Given the description of an element on the screen output the (x, y) to click on. 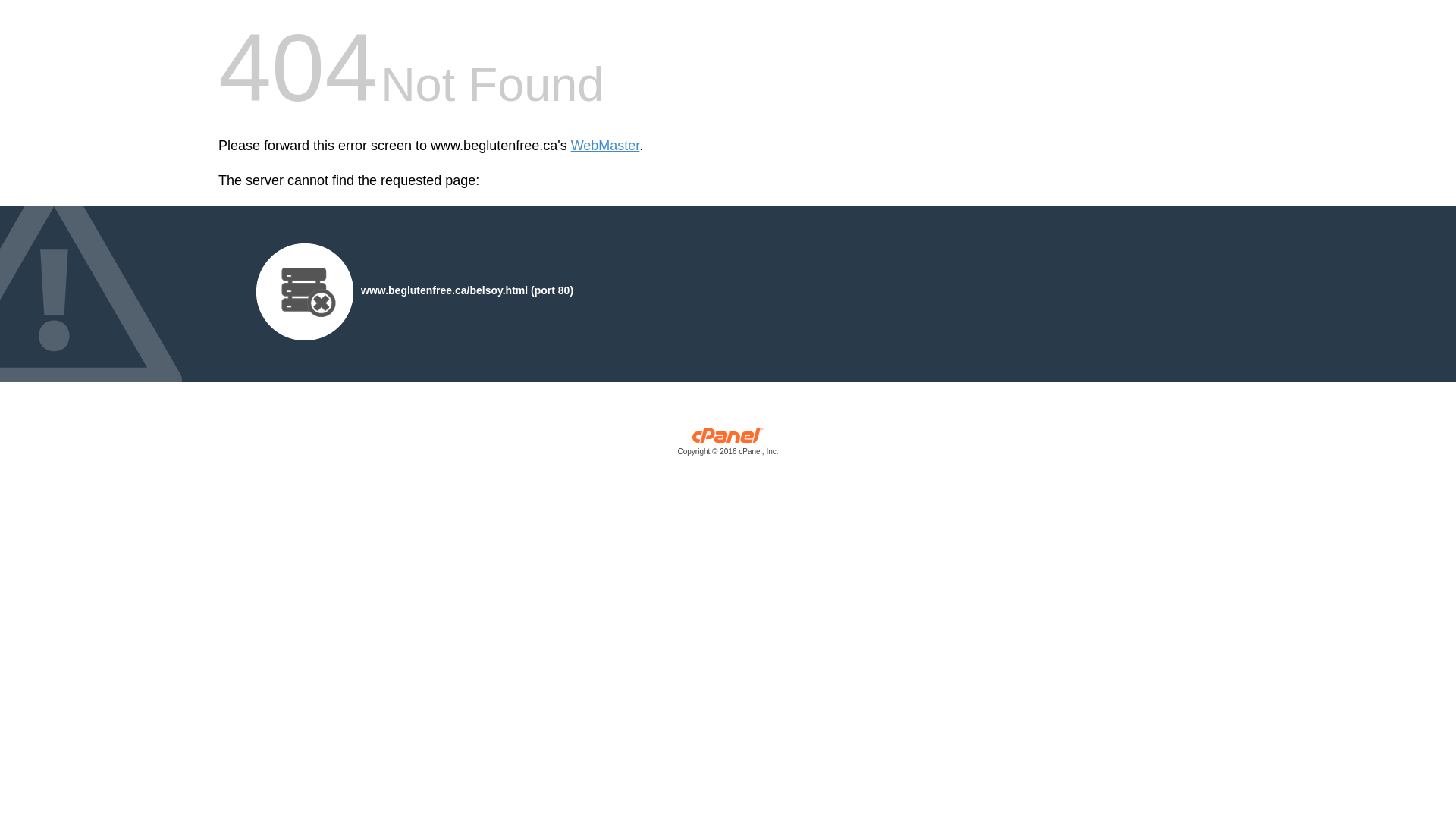
WebMaster Element type: text (605, 145)
